Given the description of an element on the screen output the (x, y) to click on. 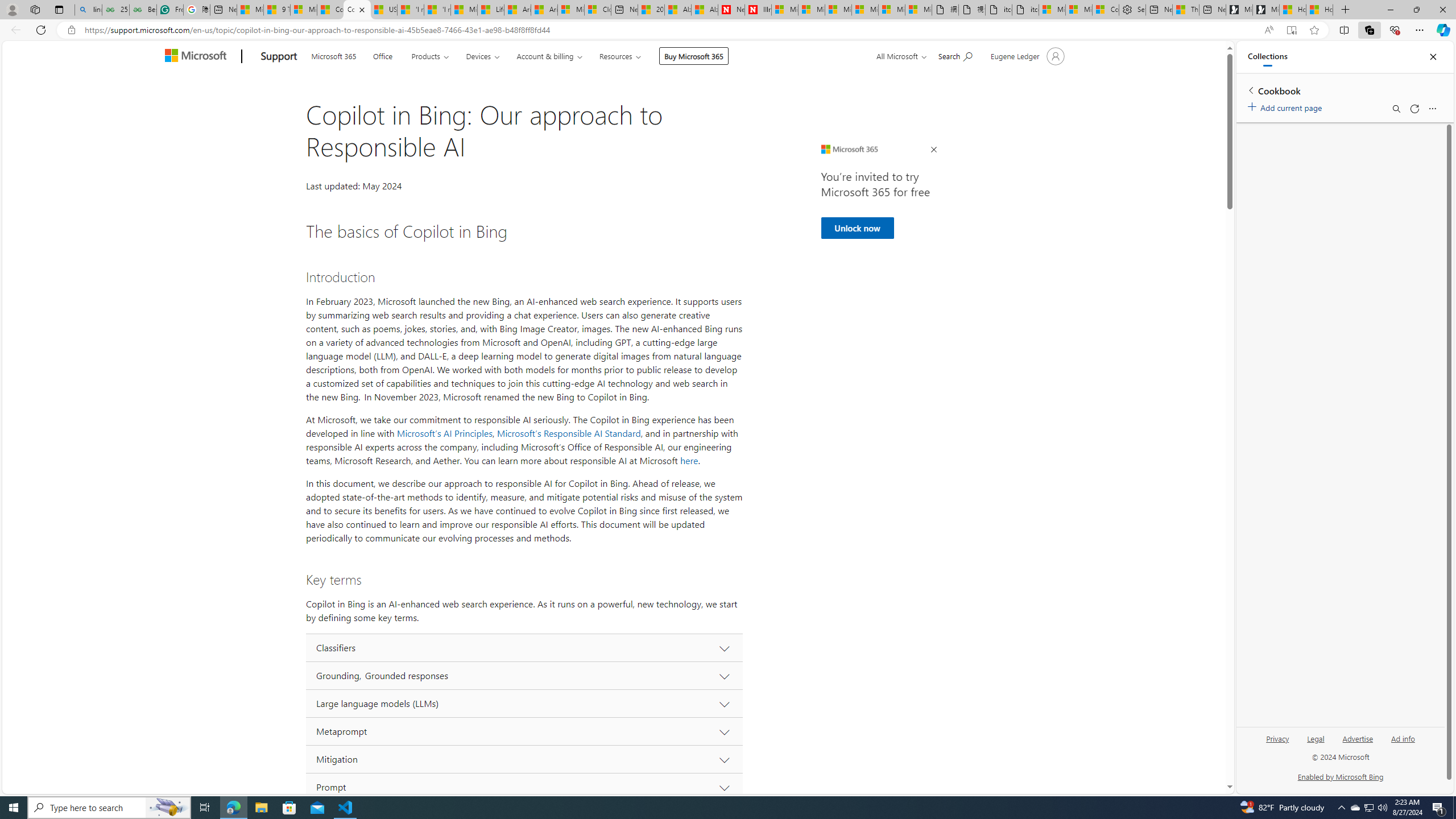
20 Ways to Boost Your Protein Intake at Every Meal (651, 9)
